Given the description of an element on the screen output the (x, y) to click on. 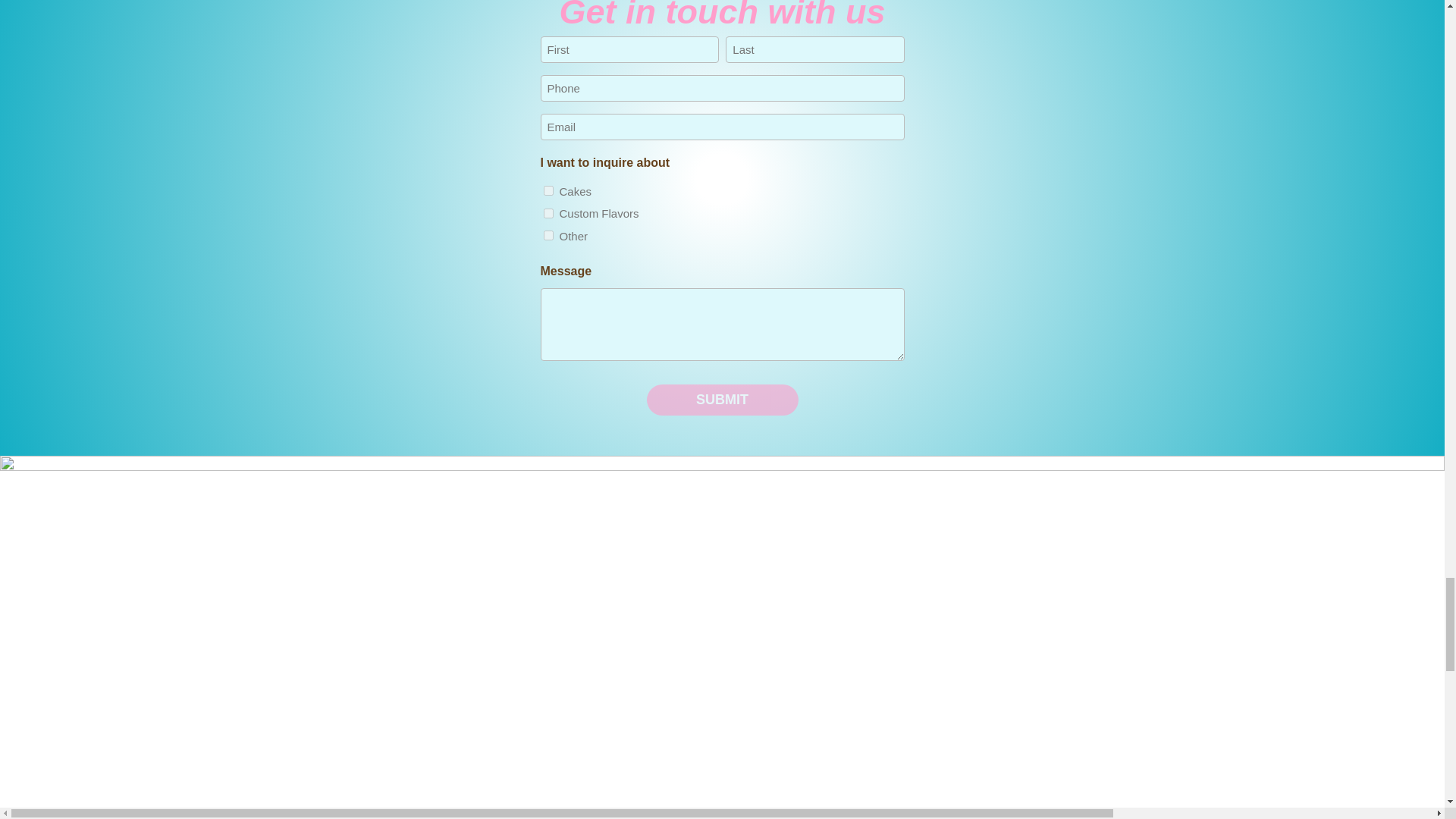
Cakes (548, 190)
Custom Flavors (548, 213)
Submit (721, 399)
Submit (721, 399)
Other (548, 235)
